Given the description of an element on the screen output the (x, y) to click on. 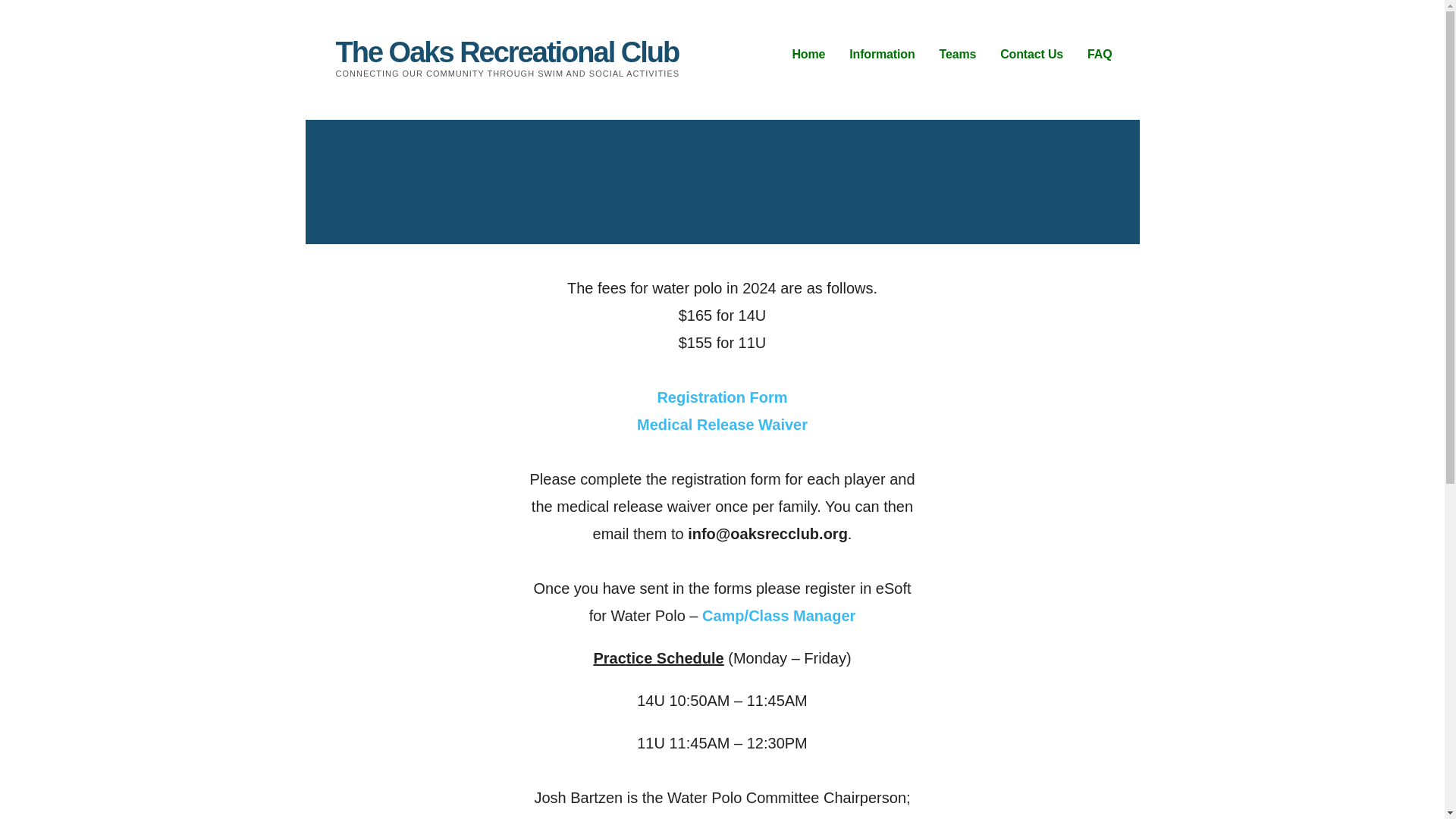
The Oaks Recreational Club (506, 51)
Home (808, 55)
Registration Form (721, 397)
Contact Us (1031, 55)
Medical Release Waiver (722, 424)
Teams (957, 55)
Information (881, 55)
